Given the description of an element on the screen output the (x, y) to click on. 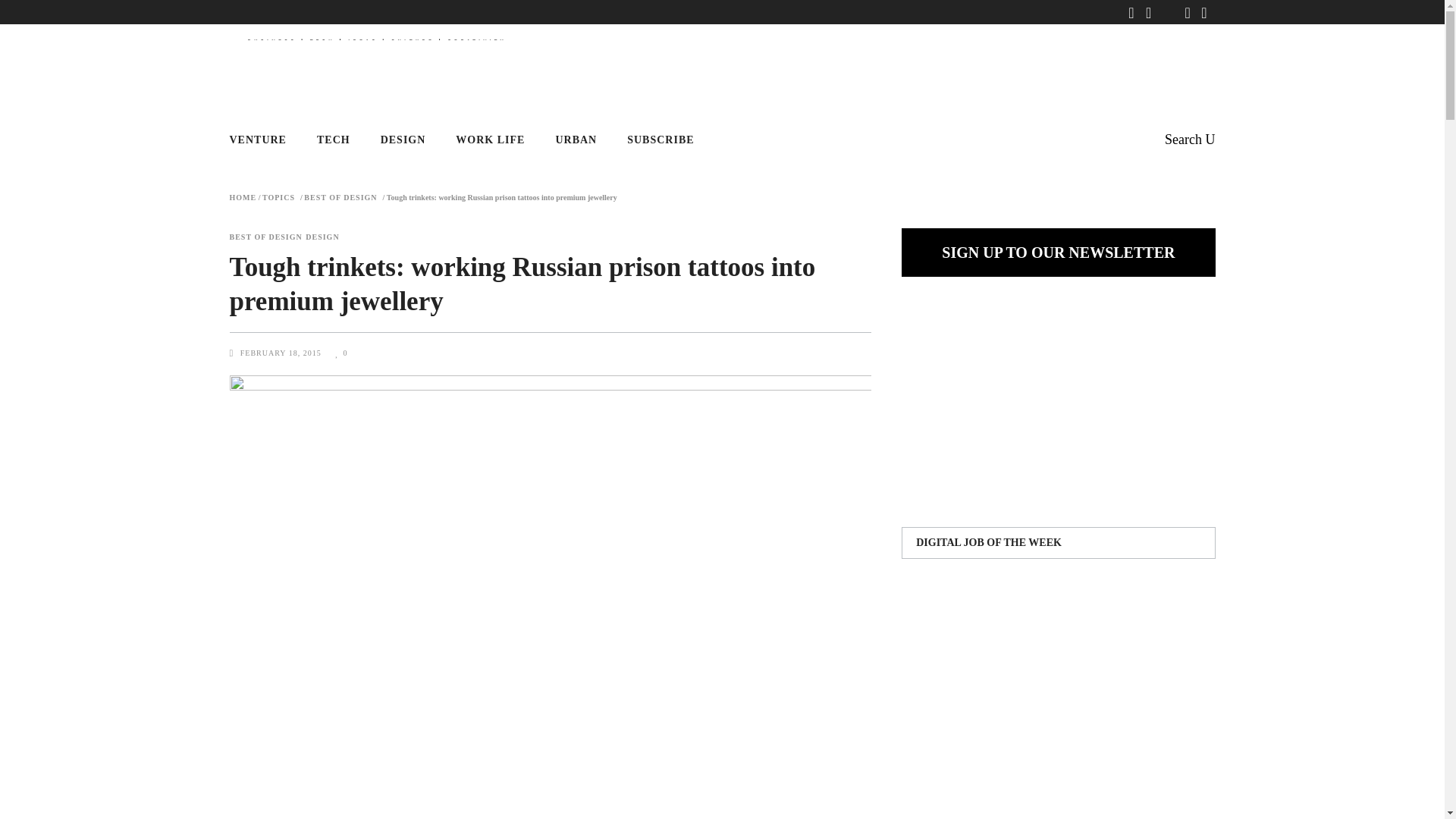
Like this (340, 352)
TOPICS (278, 197)
SUBSCRIBE (660, 139)
URBAN (575, 139)
BEST OF DESIGN (264, 236)
TECH (333, 139)
FEBRUARY 18, 2015 (281, 352)
HOME (242, 197)
0 (340, 352)
DESIGN (403, 139)
BEST OF DESIGN (340, 197)
DESIGN (322, 236)
Search (1189, 139)
WORK LIFE (490, 139)
VENTURE (264, 139)
